Given the description of an element on the screen output the (x, y) to click on. 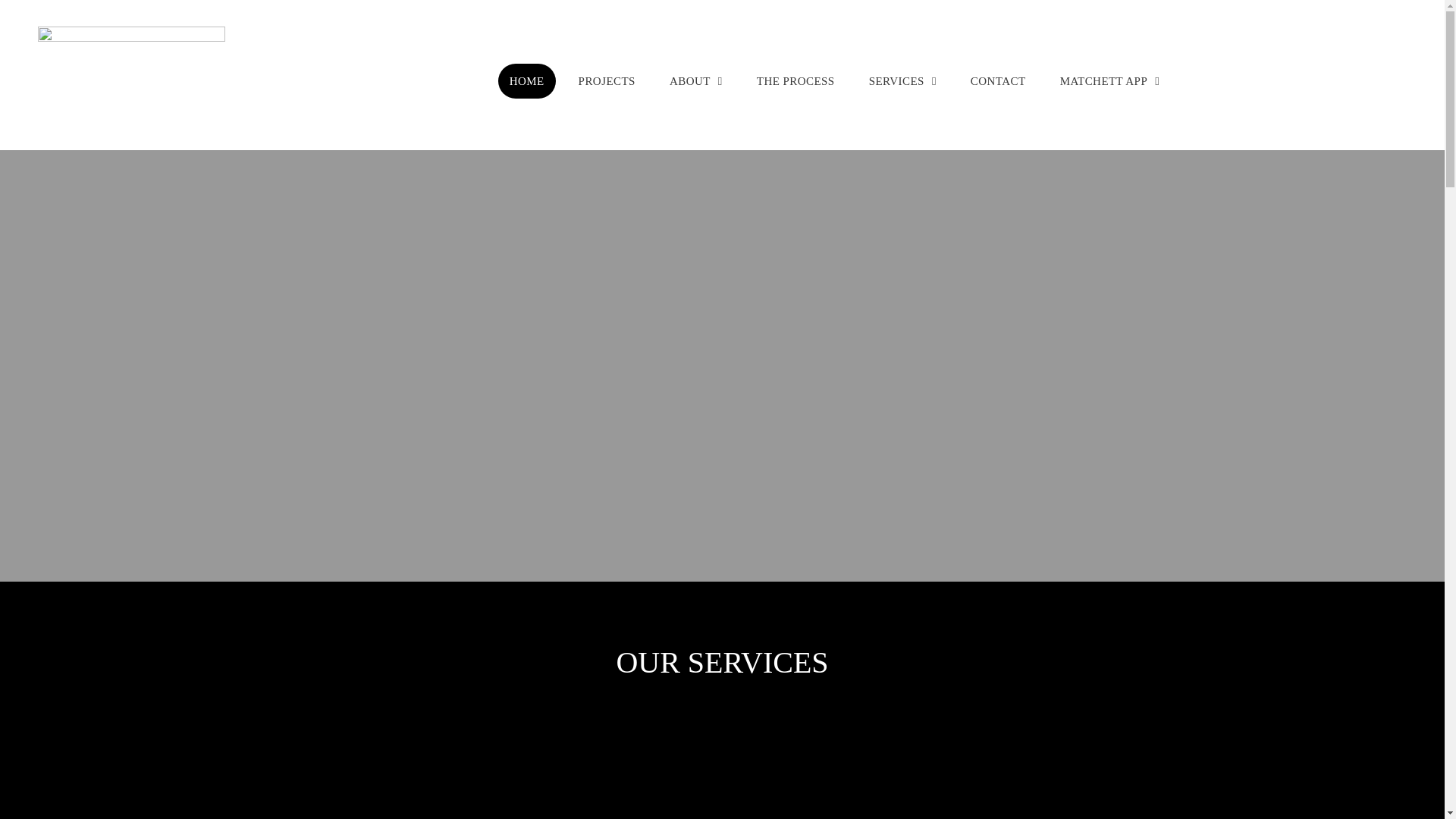
PROJECTS Element type: text (606, 81)
SERVICES Element type: text (902, 81)
CONTACT Element type: text (998, 81)
HOME Element type: text (526, 81)
THE PROCESS Element type: text (795, 81)
MATCHETT APP Element type: text (1109, 81)
ABOUT Element type: text (696, 81)
